Given the description of an element on the screen output the (x, y) to click on. 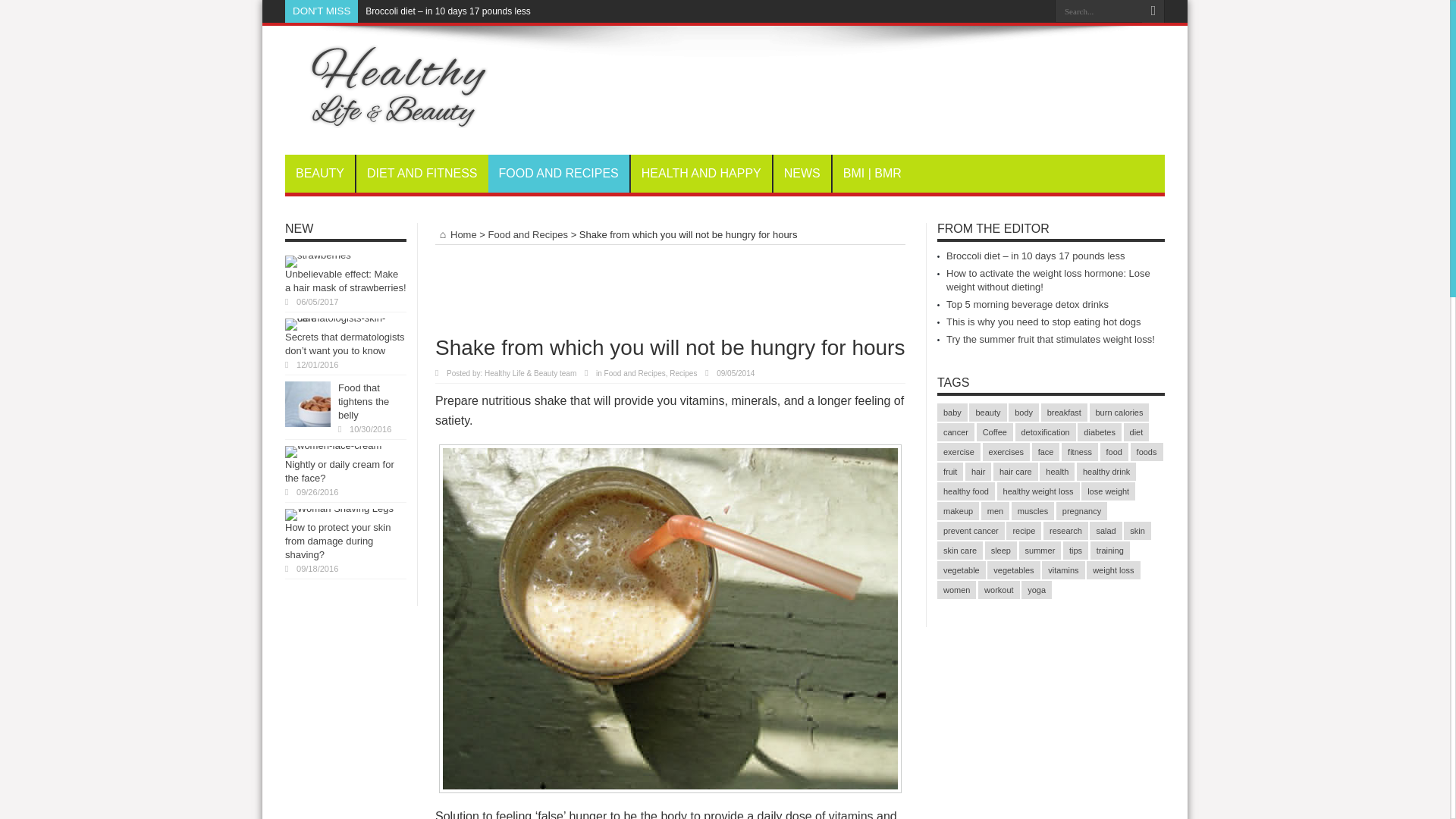
Search (1152, 11)
FOOD AND RECIPES (557, 173)
DIET AND FITNESS (421, 173)
BEAUTY (320, 173)
Food and Recipes (634, 373)
Healthy Life and Beauty (387, 116)
Food and Recipes (528, 234)
HEALTH AND HAPPY (700, 173)
Search... (1097, 11)
NEWS (802, 173)
Recipes (683, 373)
Home (456, 234)
